Given the description of an element on the screen output the (x, y) to click on. 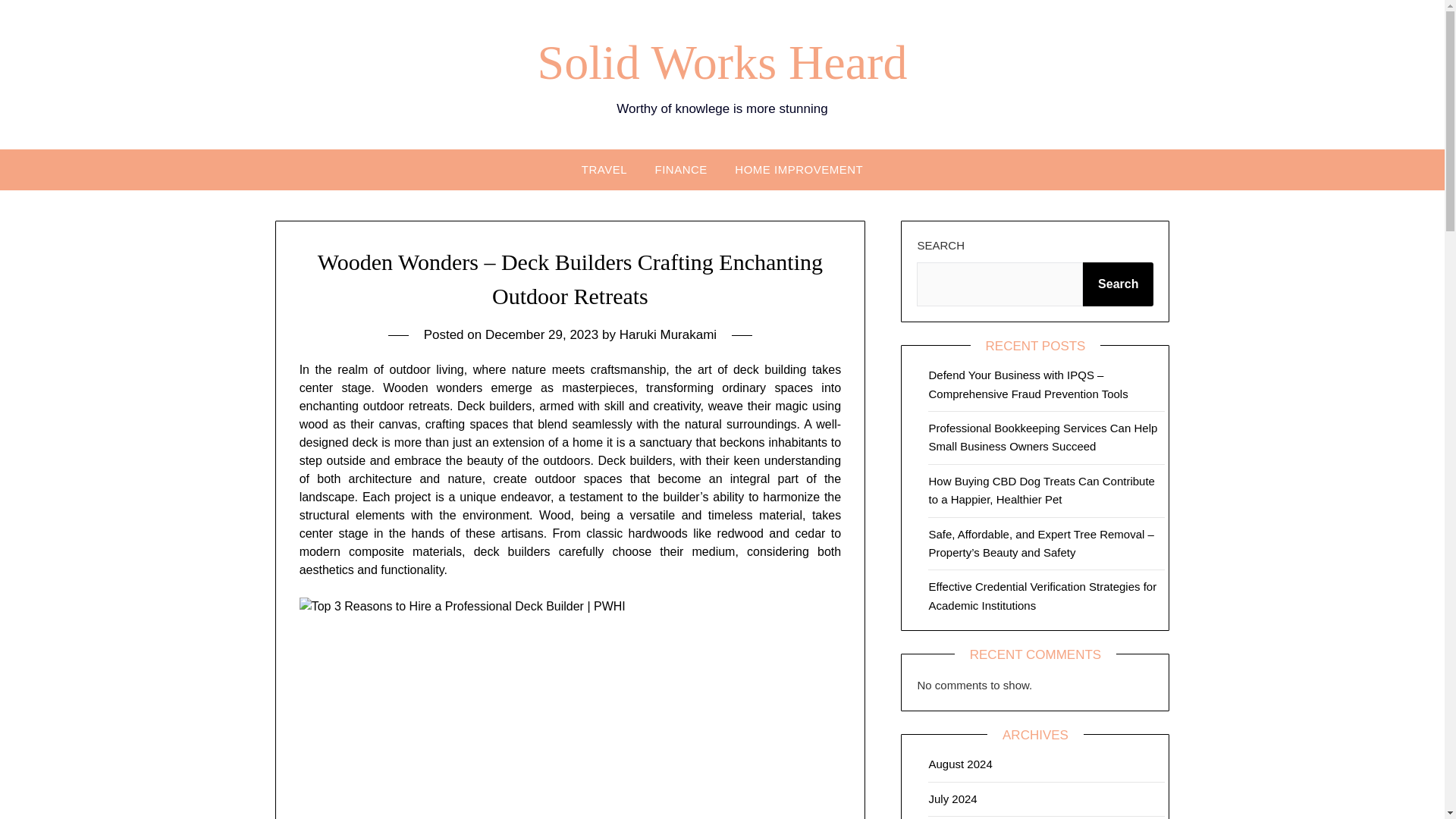
FINANCE (681, 168)
Search (1118, 284)
HOME IMPROVEMENT (798, 168)
July 2024 (952, 798)
August 2024 (959, 763)
Solid Works Heard (722, 62)
Haruki Murakami (668, 334)
December 29, 2023 (541, 334)
